Given the description of an element on the screen output the (x, y) to click on. 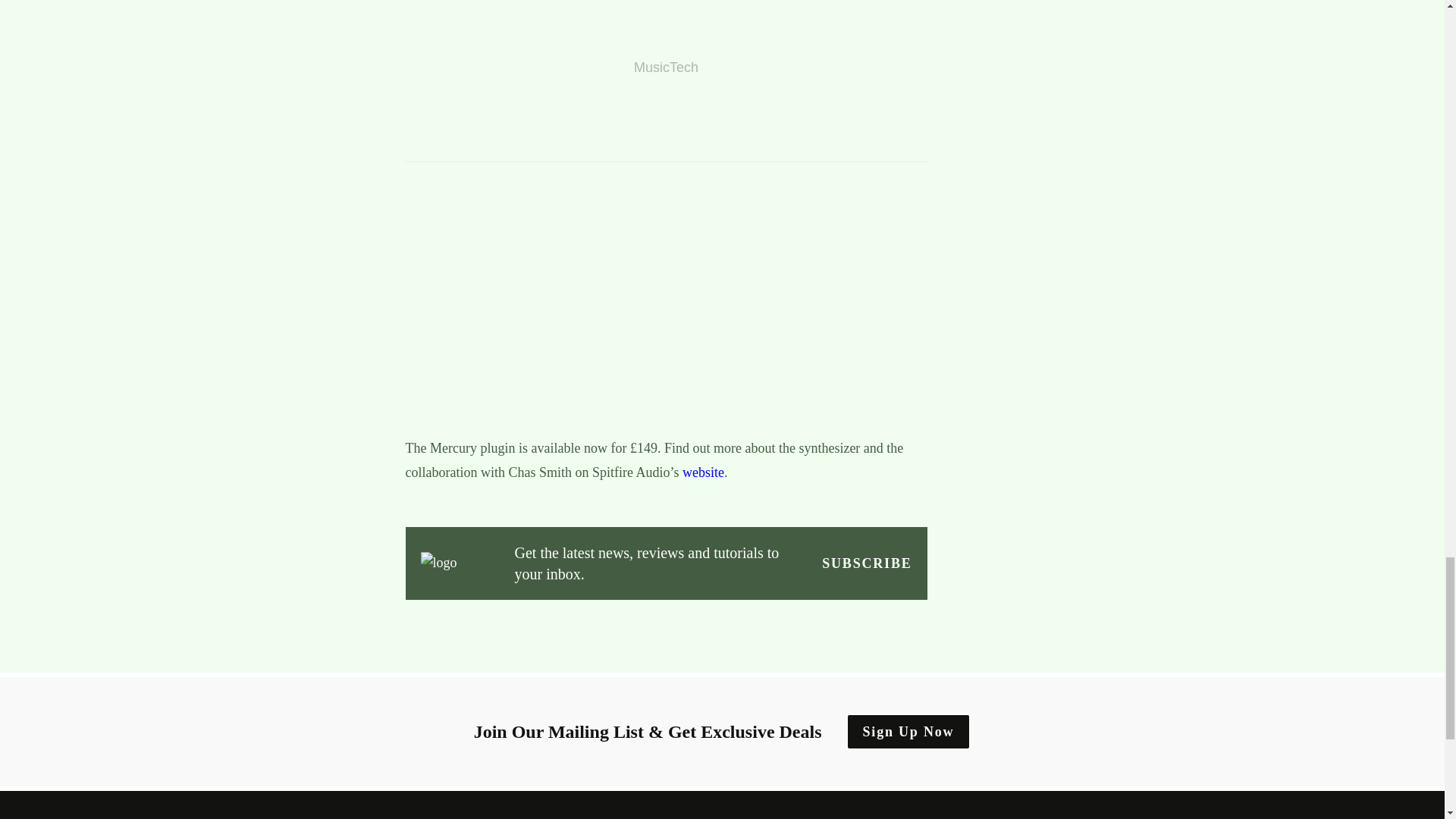
SUBSCRIBE (866, 563)
Join our mailing list (866, 563)
website (702, 472)
